Given the description of an element on the screen output the (x, y) to click on. 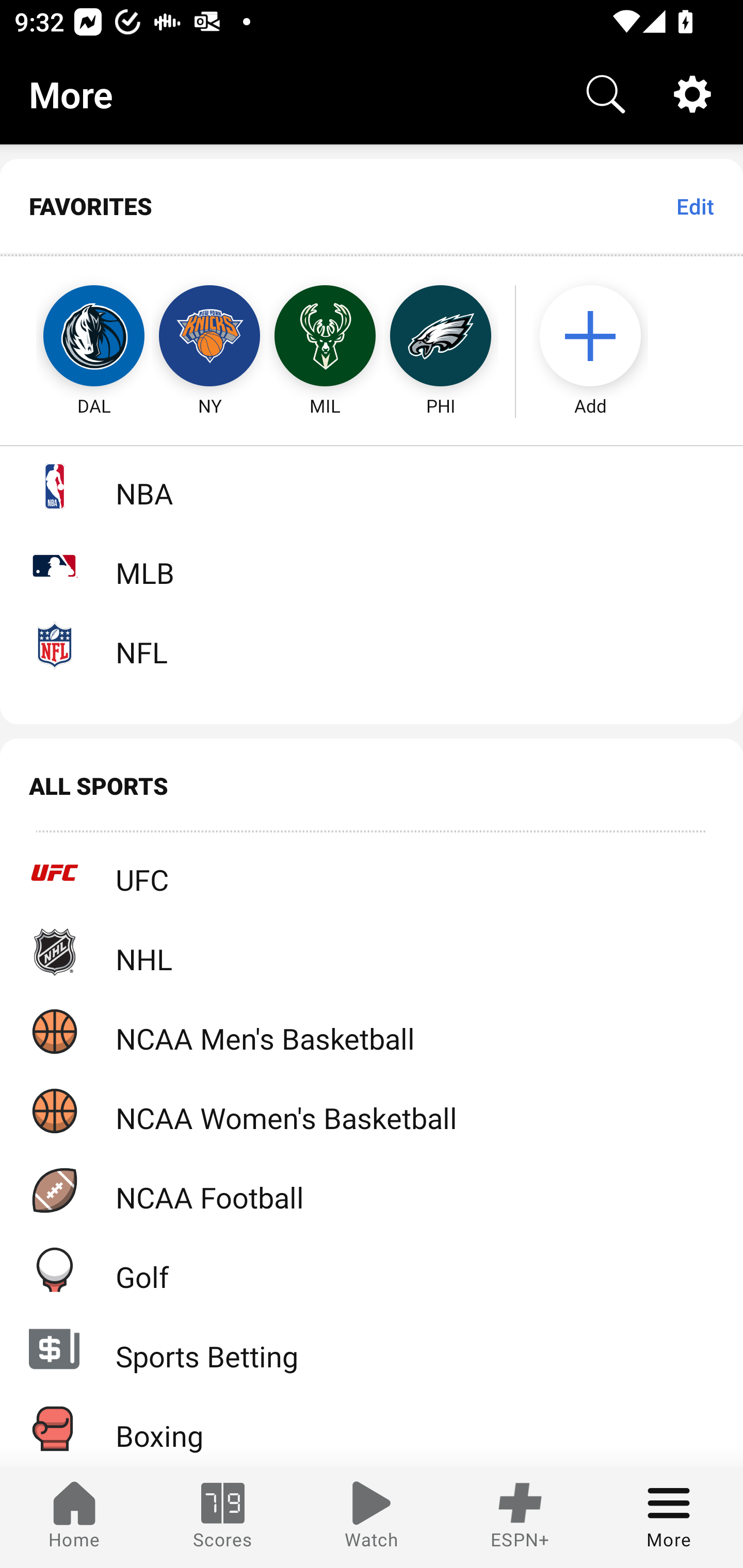
Search (605, 93)
Settings (692, 93)
Edit (695, 205)
DAL Dallas Mavericks (75, 336)
NY New York Knicks (209, 336)
MIL Milwaukee Bucks (324, 336)
PHI Philadelphia Eagles (440, 336)
 Add (599, 336)
NBA (371, 485)
MLB (371, 565)
NFL (371, 645)
UFC (371, 872)
NHL (371, 951)
NCAA Men's Basketball (371, 1030)
NCAA Women's Basketball (371, 1110)
NCAA Football (371, 1189)
Golf (371, 1269)
Sports Betting (371, 1349)
Boxing (371, 1428)
Home (74, 1517)
Scores (222, 1517)
Watch (371, 1517)
ESPN+ (519, 1517)
